Given the description of an element on the screen output the (x, y) to click on. 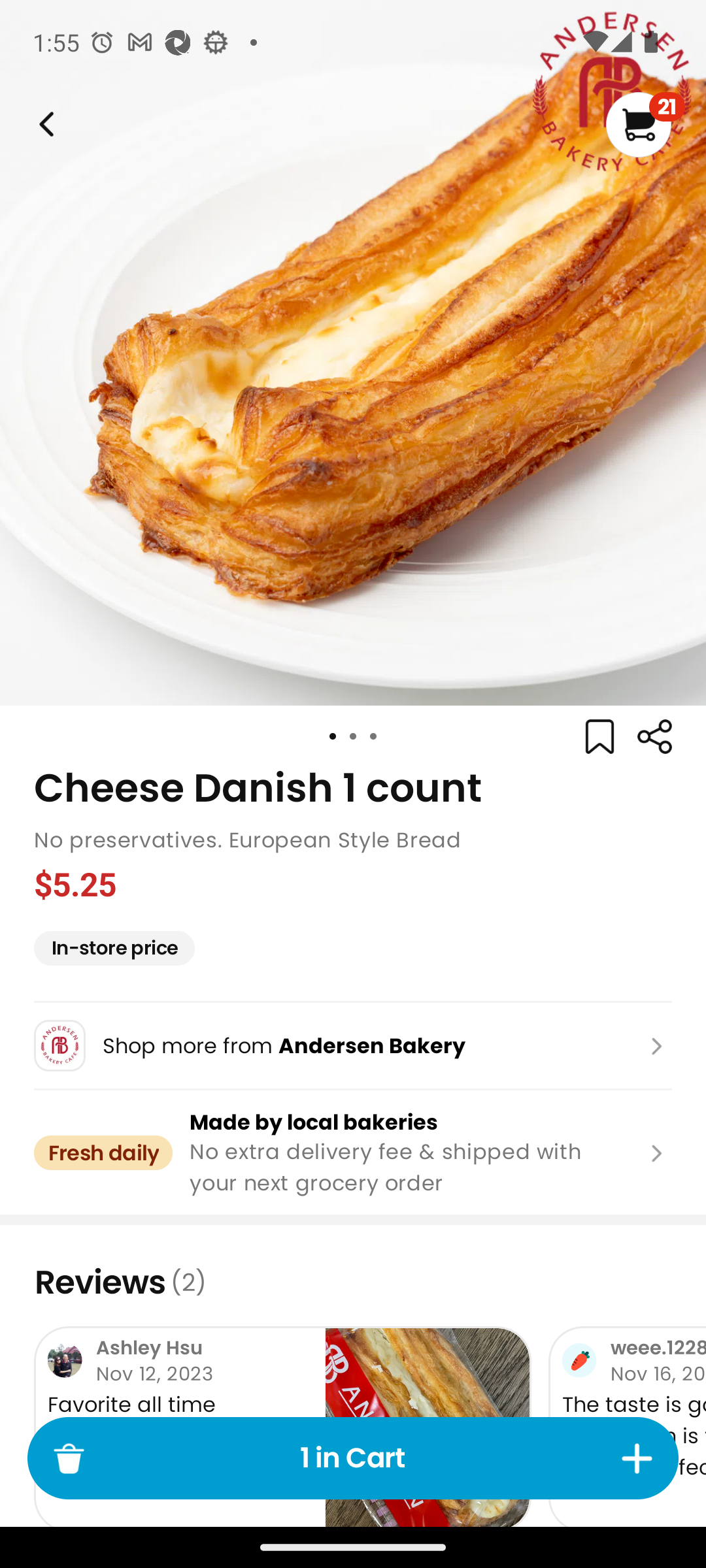
21 (644, 124)
Weee! (45, 124)
Weee! (653, 736)
Shop more from Andersen Bakery Weee! (352, 1045)
Reviews (2) (353, 1281)
1 in Cart (352, 1458)
